Given the description of an element on the screen output the (x, y) to click on. 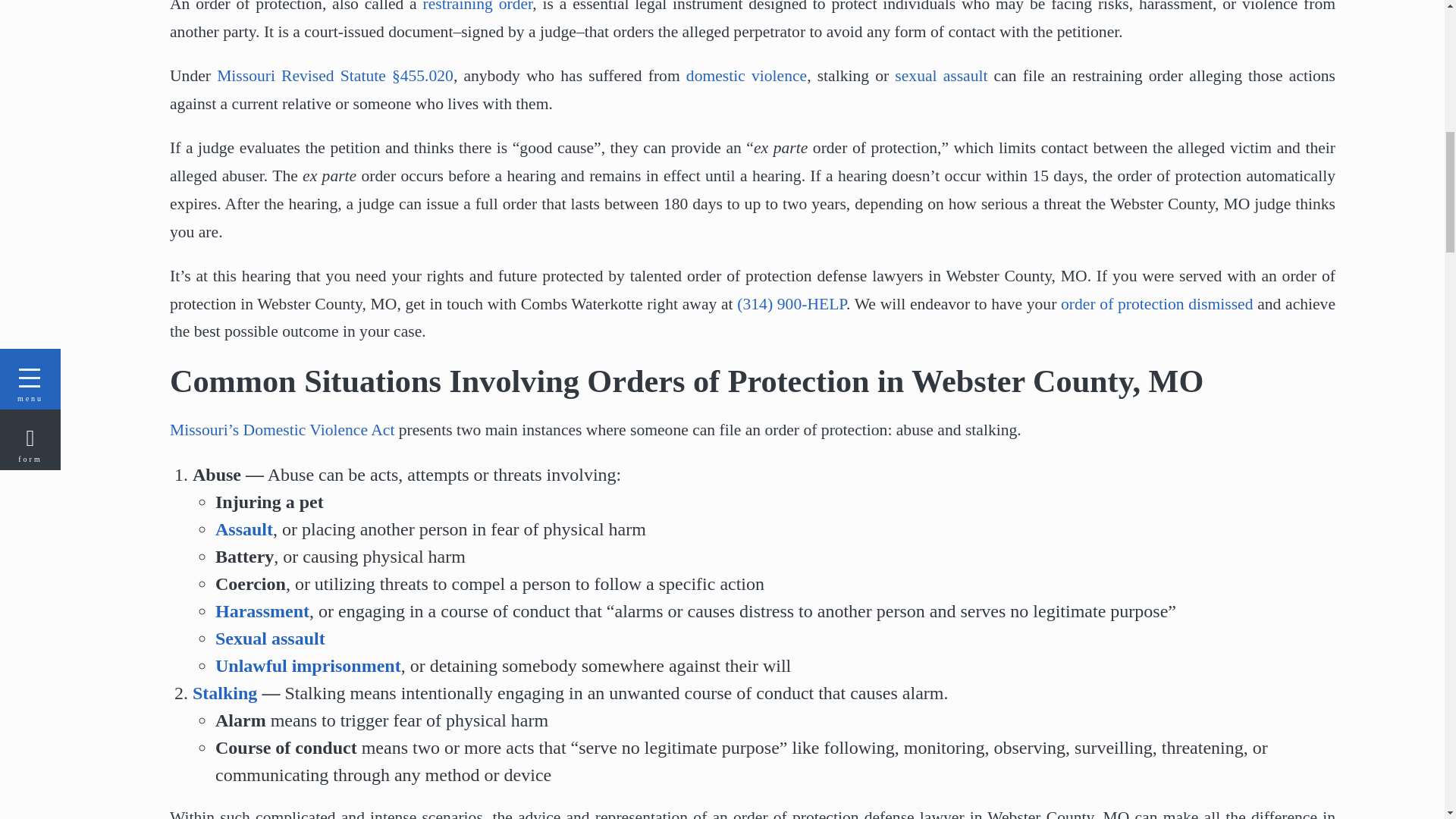
sexual assault (941, 75)
domestic violence (745, 75)
Assault (244, 528)
restraining order (477, 6)
order of protection dismissed (1156, 303)
Stalking (224, 692)
Sexual assault (269, 638)
Unlawful imprisonment (308, 665)
Harassment (261, 610)
